Given the description of an element on the screen output the (x, y) to click on. 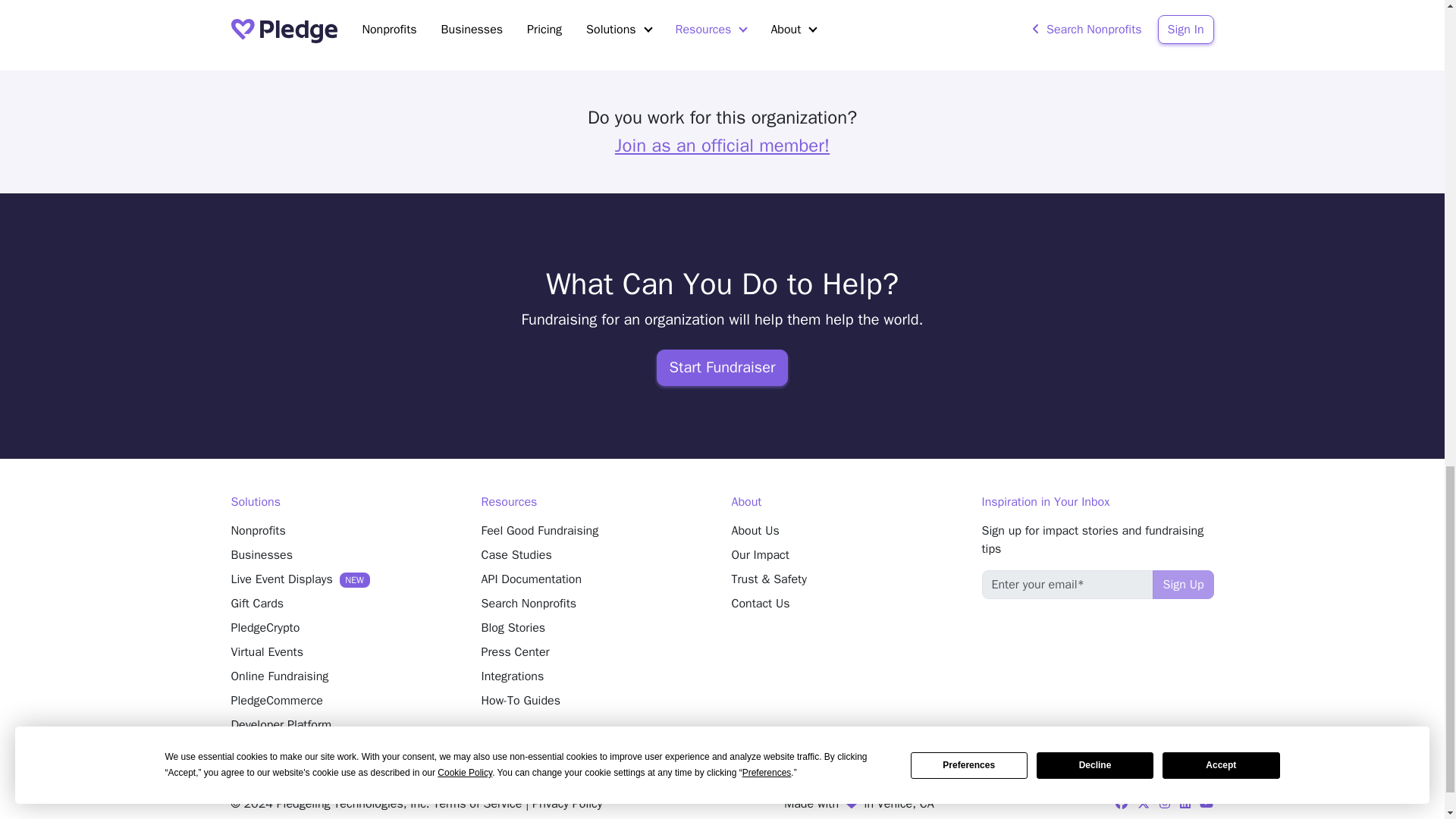
Donation Form (509, 17)
Sign Up (1182, 584)
Donate Now (509, 17)
